Given the description of an element on the screen output the (x, y) to click on. 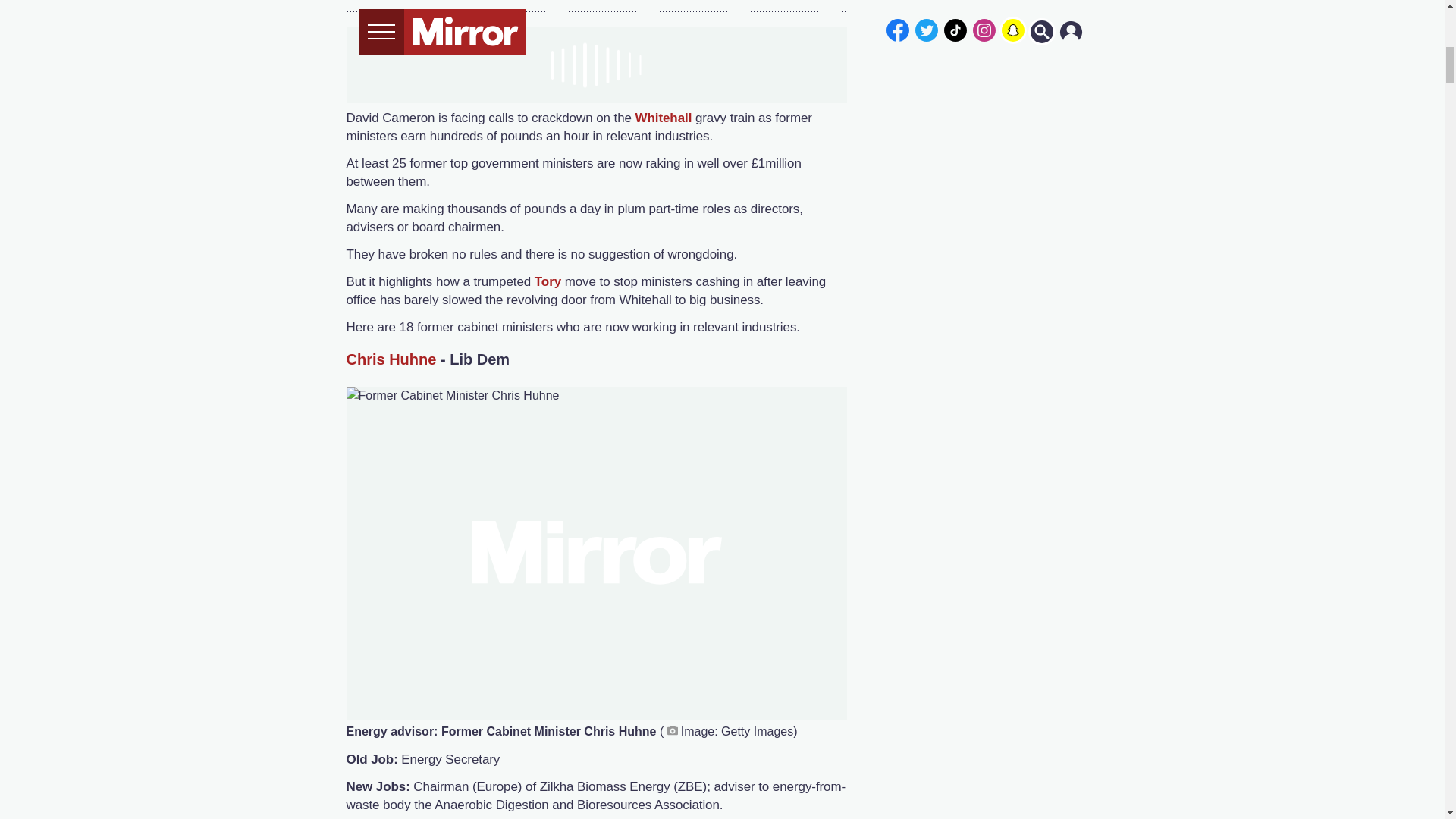
Whitehall (664, 117)
Tory (549, 281)
Chris Huhne (390, 359)
